Given the description of an element on the screen output the (x, y) to click on. 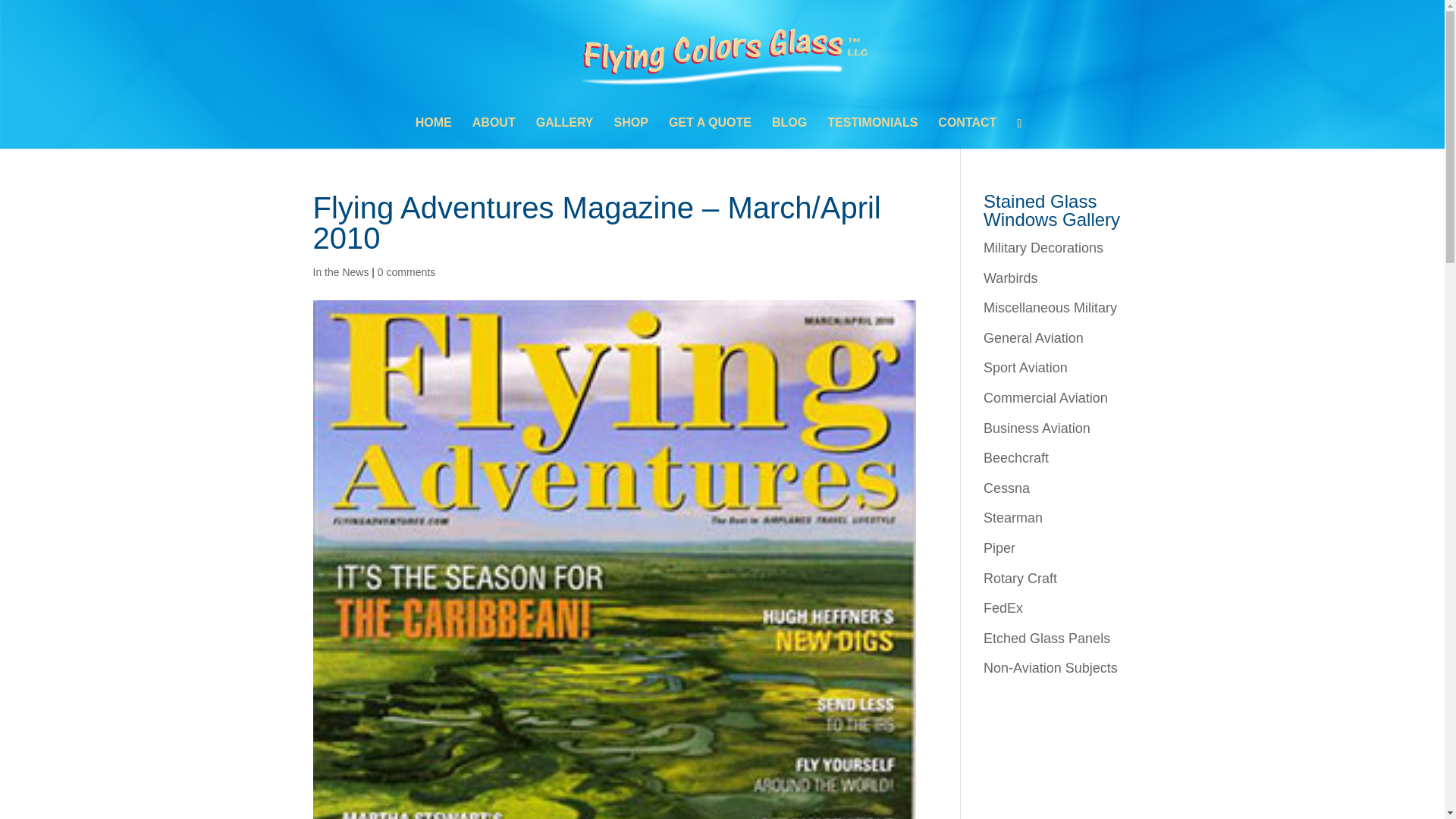
ABOUT (493, 132)
GALLERY (564, 132)
Piper (999, 548)
Rotary Craft (1020, 578)
Military Decorations (1043, 247)
GET A QUOTE (709, 132)
Beechcraft (1016, 458)
General Aviation (1033, 337)
Commercial Aviation (1046, 397)
In the News (340, 272)
BLOG (788, 132)
SHOP (630, 132)
Cessna (1006, 488)
TESTIMONIALS (872, 132)
0 comments (406, 272)
